Given the description of an element on the screen output the (x, y) to click on. 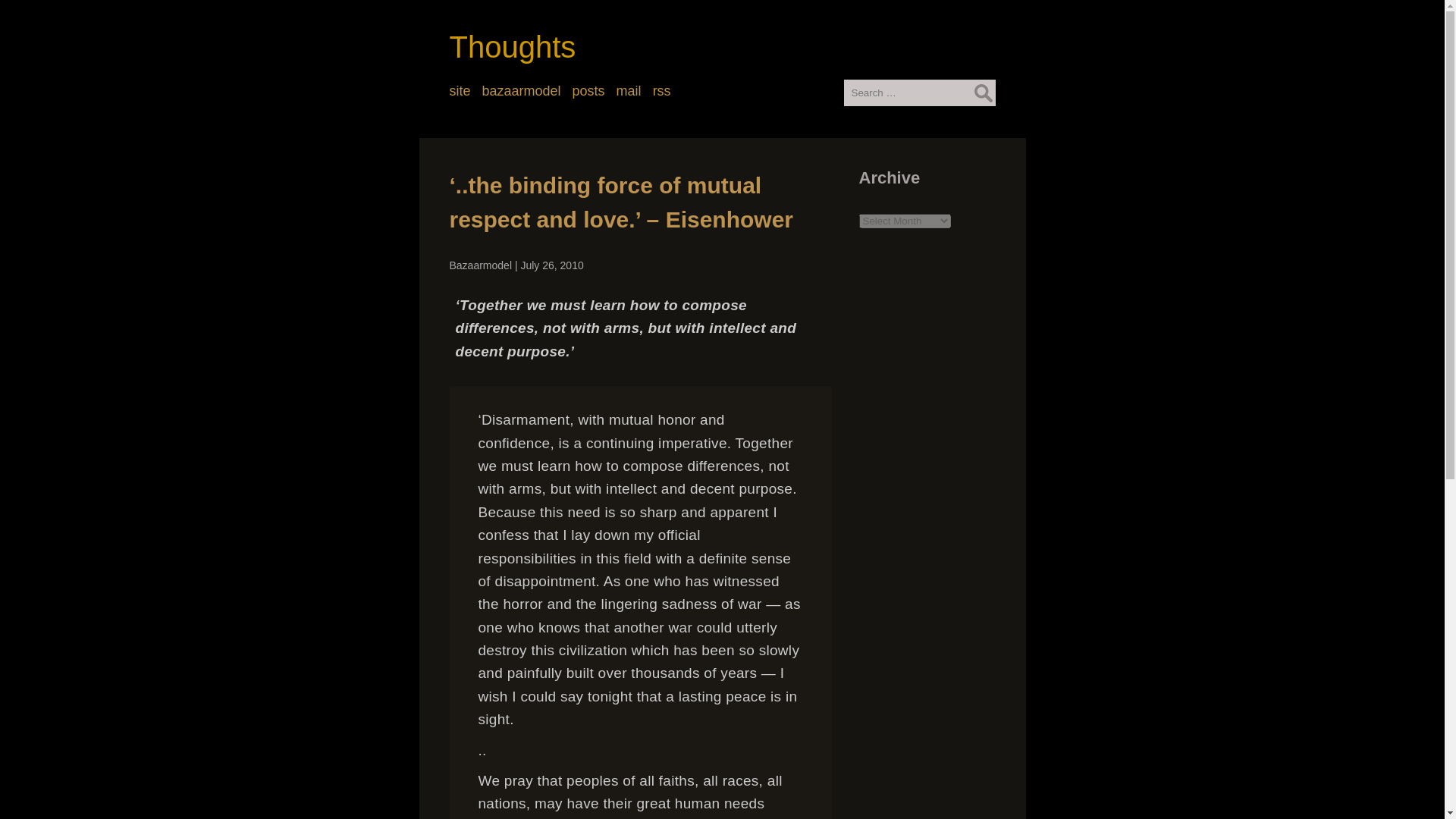
Posts by Bazaarmodel (480, 265)
posts (588, 92)
bazaarmodel (520, 92)
Thoughts (511, 46)
Thoughts (511, 46)
Bazaarmodel (480, 265)
